Given the description of an element on the screen output the (x, y) to click on. 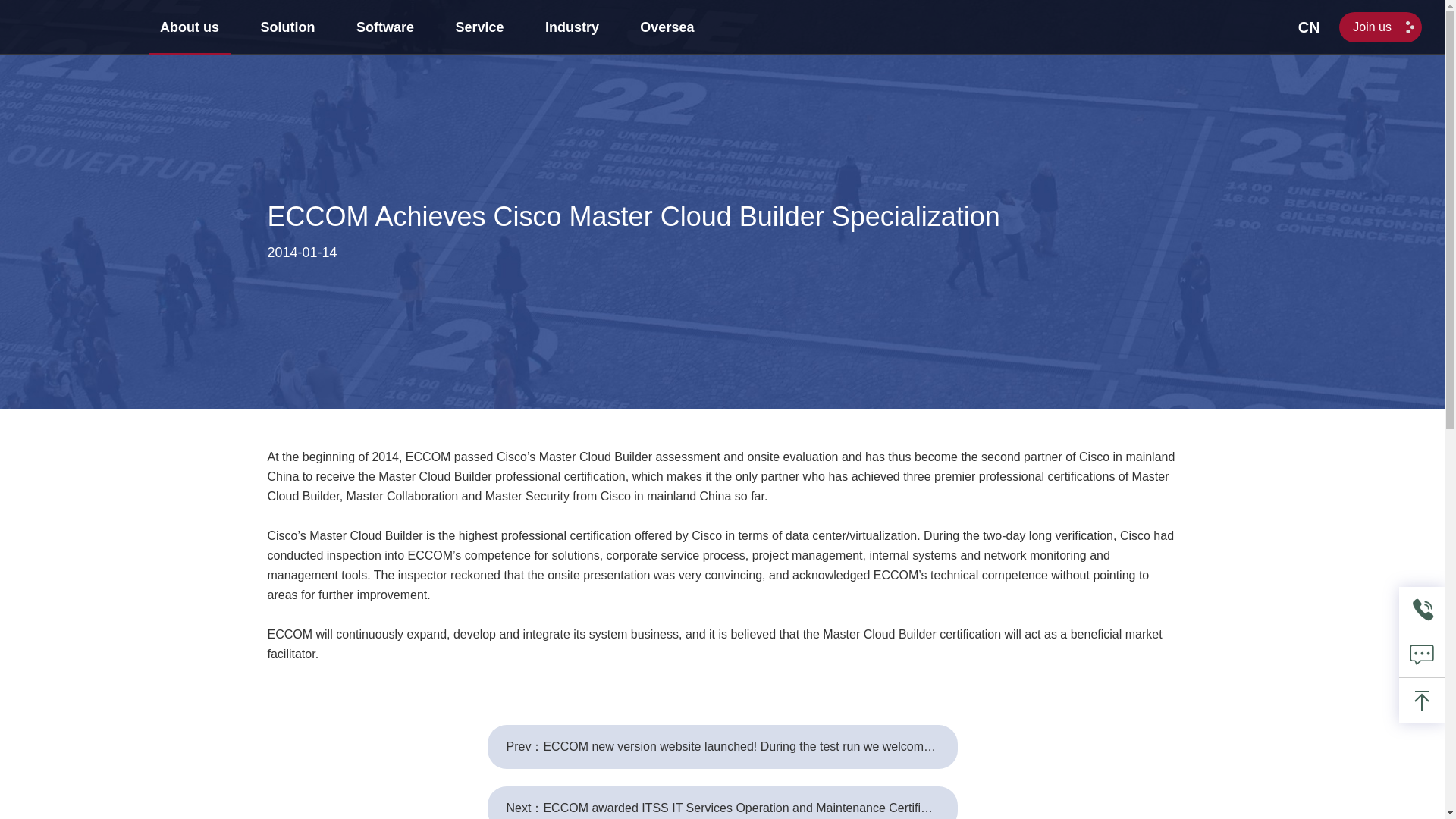
Join us (1380, 27)
Industry (572, 27)
CN (1308, 27)
Oversea (666, 27)
About us (189, 27)
Software (385, 27)
Solution (287, 27)
Service (479, 27)
